Given the description of an element on the screen output the (x, y) to click on. 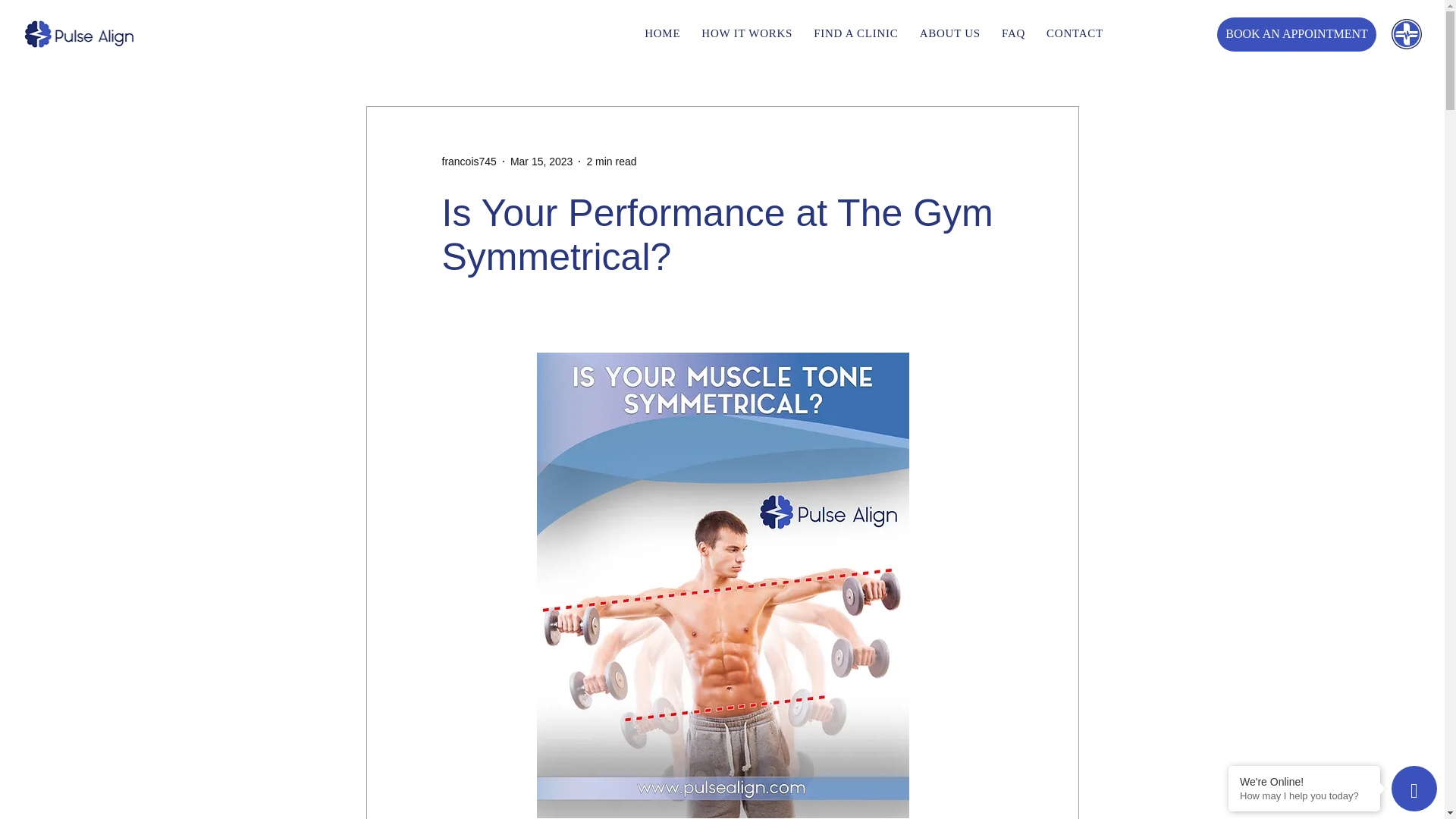
FAQ (1013, 33)
HOW IT WORKS (746, 33)
We're Online! (1304, 781)
FIND A CLINIC (855, 33)
Mar 15, 2023 (542, 160)
ABOUT US (950, 33)
How may I help you today? (630, 33)
CONTACT (1304, 795)
HOME (1074, 33)
2 min read (662, 33)
BOOK AN APPOINTMENT (611, 160)
francois745 (1296, 33)
